Given the description of an element on the screen output the (x, y) to click on. 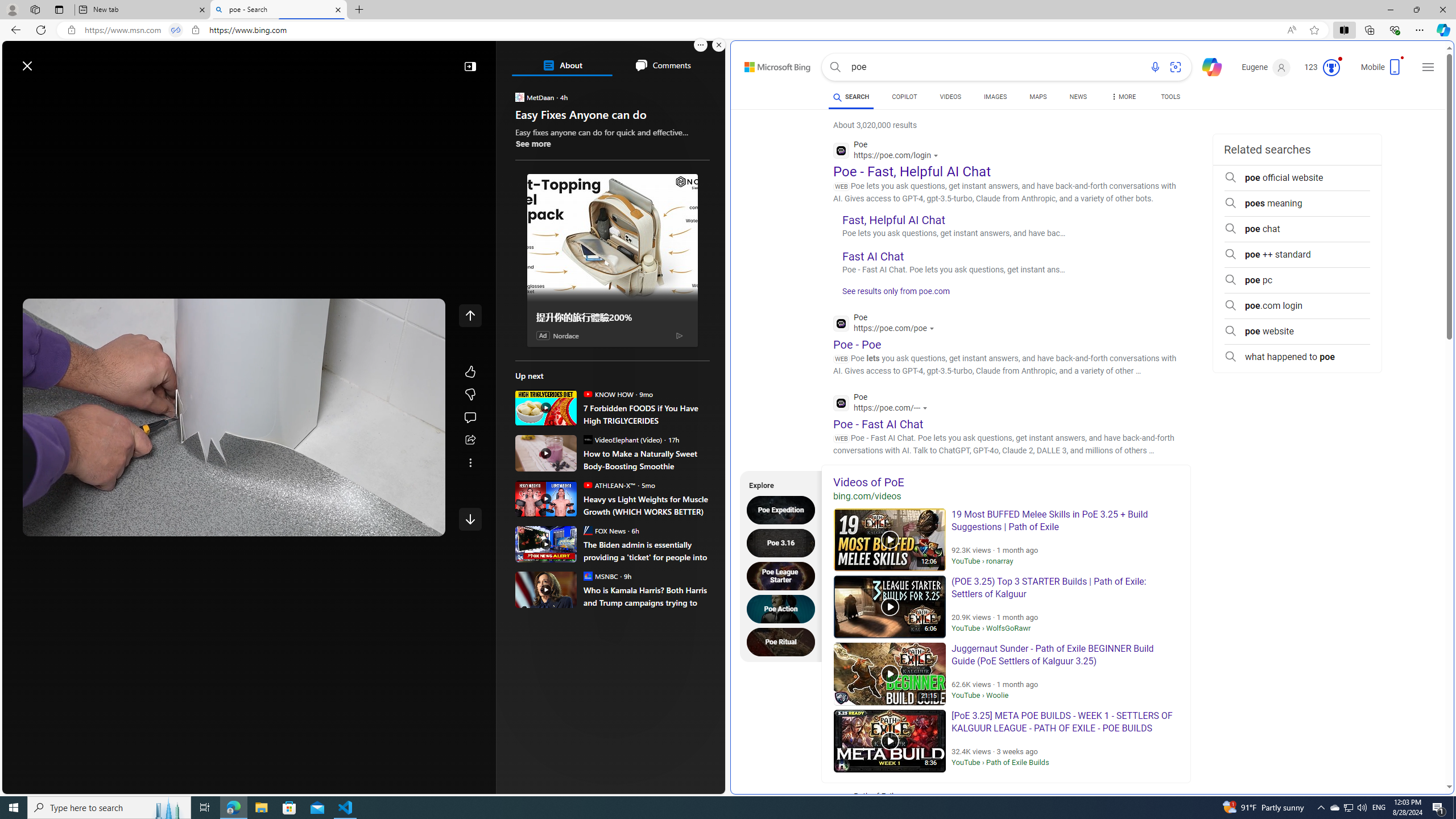
COPILOT (903, 96)
Comments (662, 64)
How to Make a Naturally Sweet Body-Boosting Smoothie (545, 452)
7 Forbidden FOODS if You Have High TRIGLYCERIDES (545, 407)
Seek Back (62, 523)
TOOLS (1171, 98)
poe chat (1297, 229)
